Given the description of an element on the screen output the (x, y) to click on. 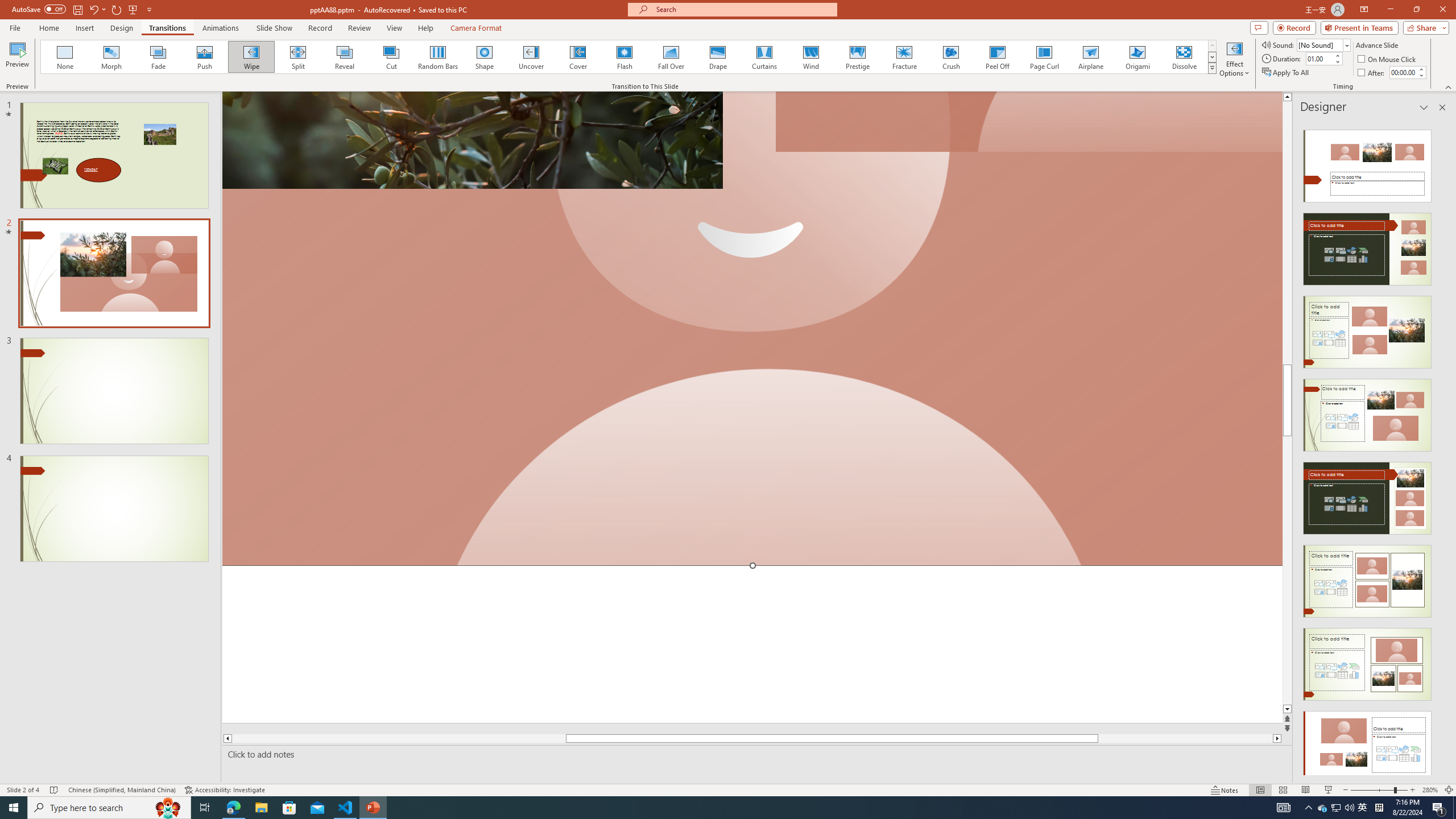
Task Pane Options (1423, 107)
Share (1423, 27)
Effect Options (1234, 58)
Customize Quick Access Toolbar (149, 9)
Close (1442, 9)
Open (1345, 44)
Page up (1287, 232)
Reading View (1305, 790)
Airplane (1090, 56)
Slide Notes (754, 754)
Comments (1259, 27)
Wipe (251, 56)
Zoom Out (1372, 790)
Dissolve (1183, 56)
Accessibility Checker Accessibility: Investigate (224, 790)
